Given the description of an element on the screen output the (x, y) to click on. 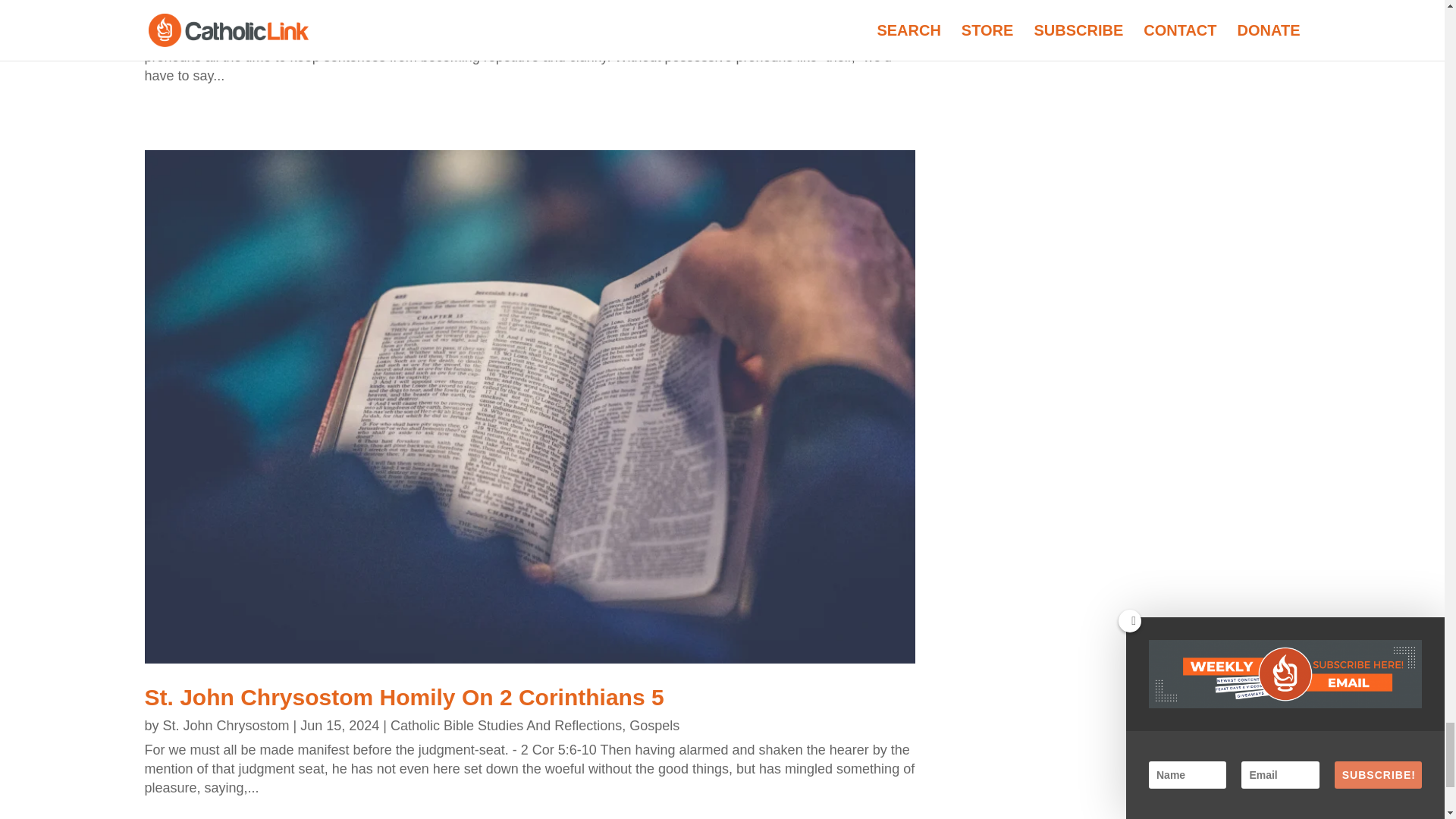
Posts by Veronica Cruz Burchard Mike Gutzwiller (283, 14)
